Given the description of an element on the screen output the (x, y) to click on. 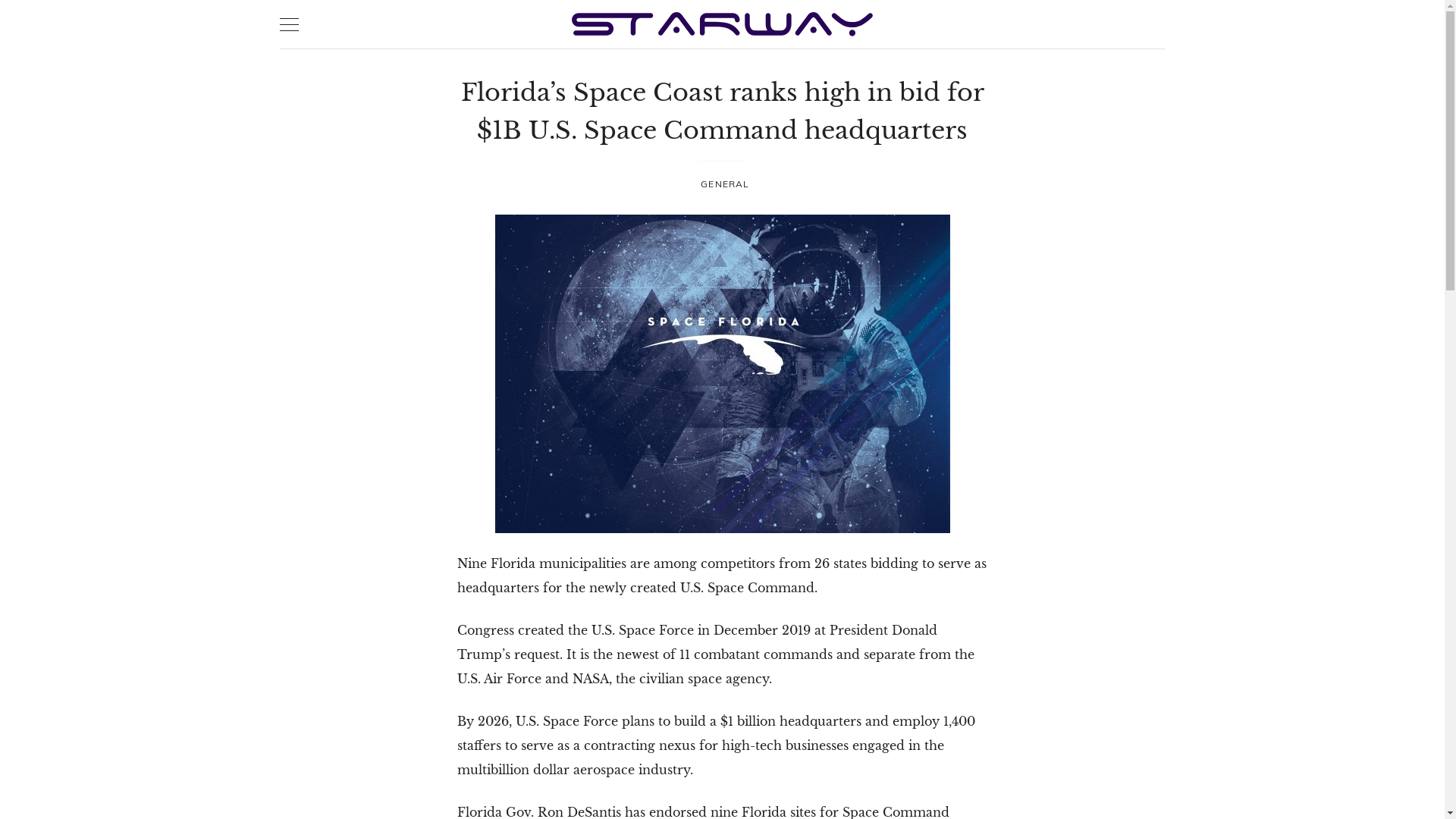
GENERAL Element type: text (724, 183)
Skip to content Element type: text (0, 0)
